Given the description of an element on the screen output the (x, y) to click on. 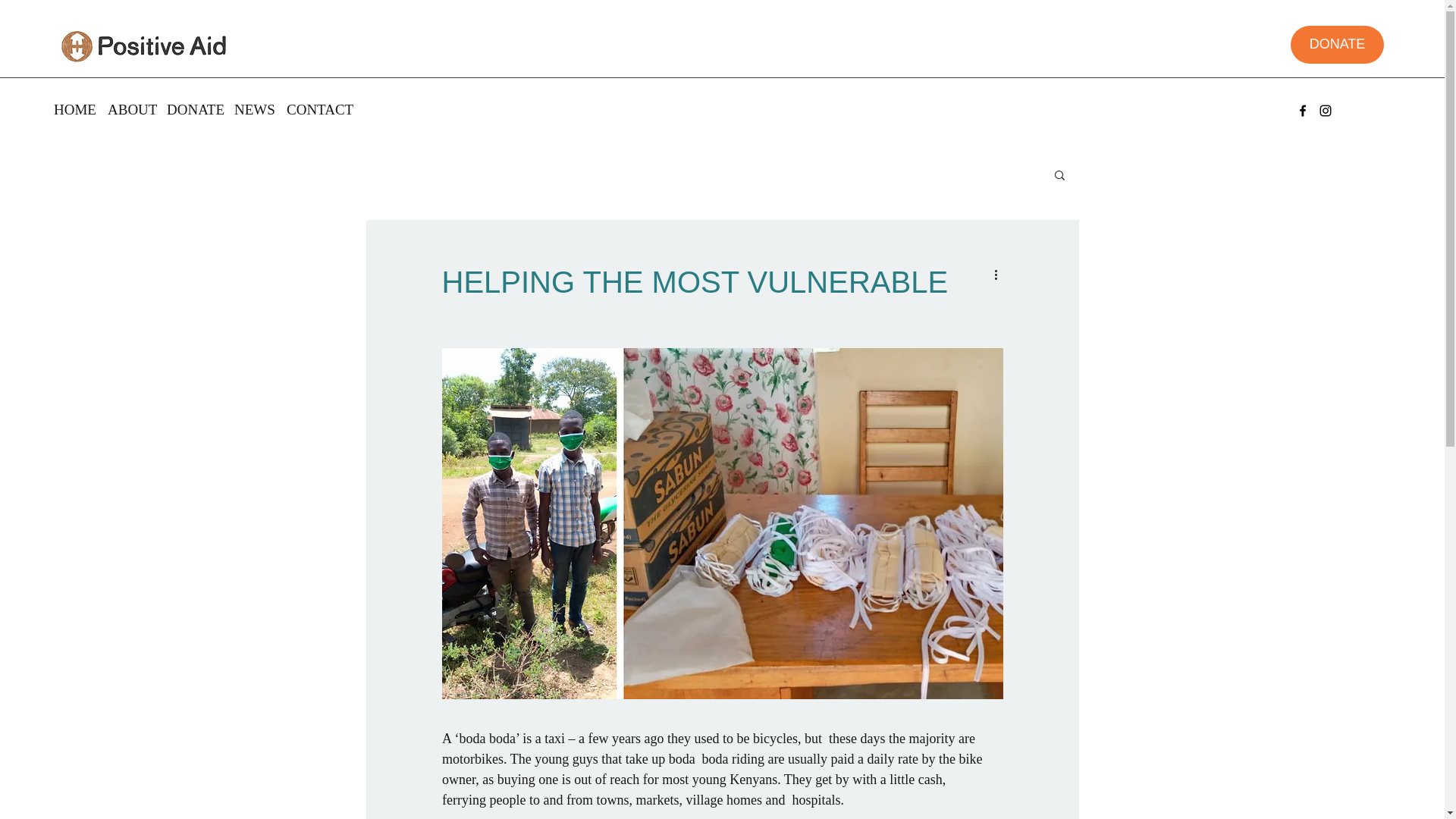
DONATE (192, 109)
NEWS (253, 109)
HOME (73, 109)
CONTACT (316, 109)
ABOUT (129, 109)
DONATE (1337, 44)
